Given the description of an element on the screen output the (x, y) to click on. 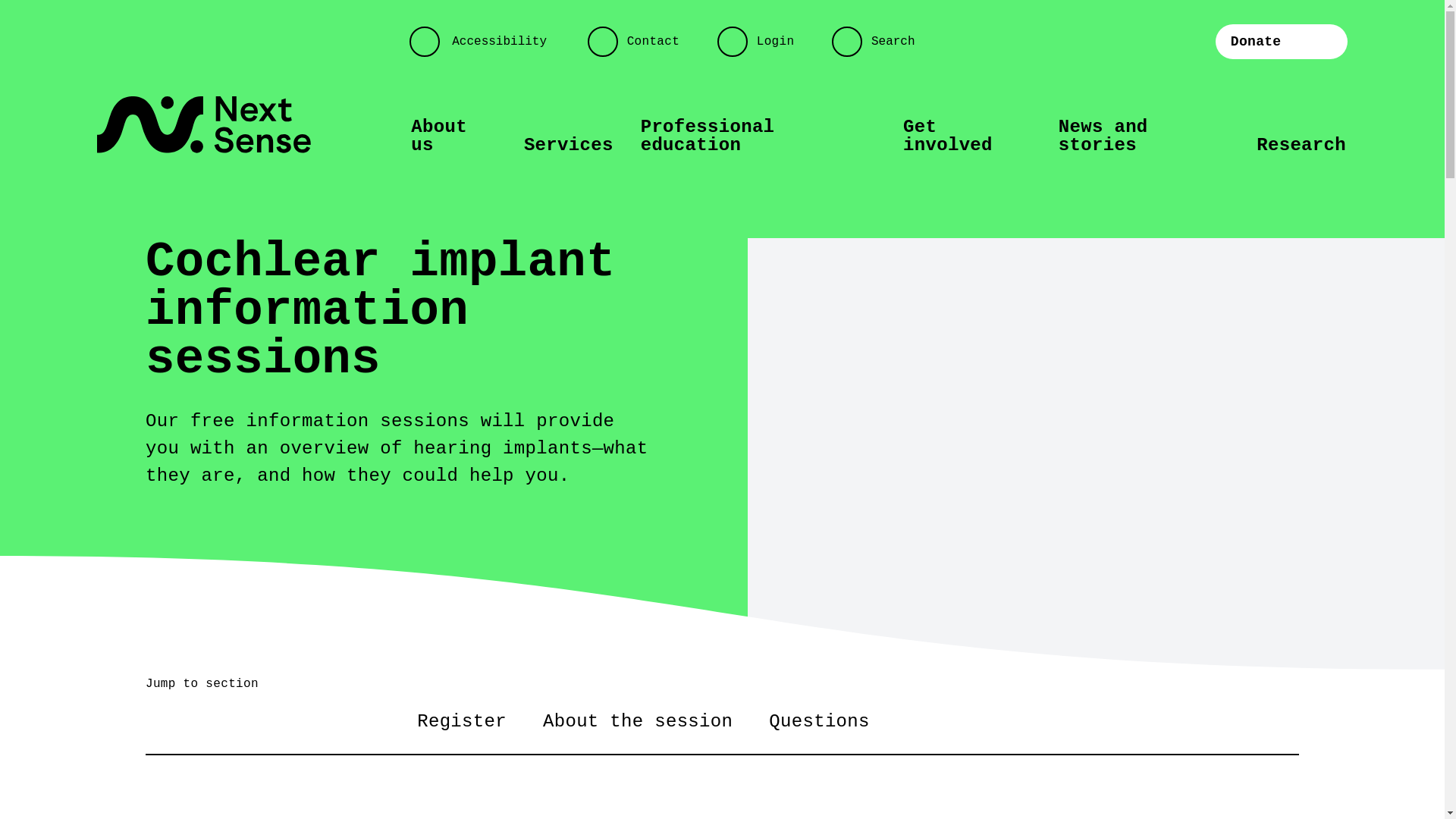
Get involved Element type: text (966, 136)
News and stories Element type: text (1143, 136)
Services Element type: text (568, 145)
Donate Element type: text (1281, 41)
Contact Element type: text (640, 41)
Accessibility Element type: text (485, 41)
Research Element type: text (1300, 145)
About the session Element type: text (637, 721)
Register Element type: text (461, 721)
Questions Element type: text (818, 721)
About us Element type: text (453, 136)
Search Element type: text (879, 41)
Professional education Element type: text (758, 136)
Login Element type: text (762, 41)
